Given the description of an element on the screen output the (x, y) to click on. 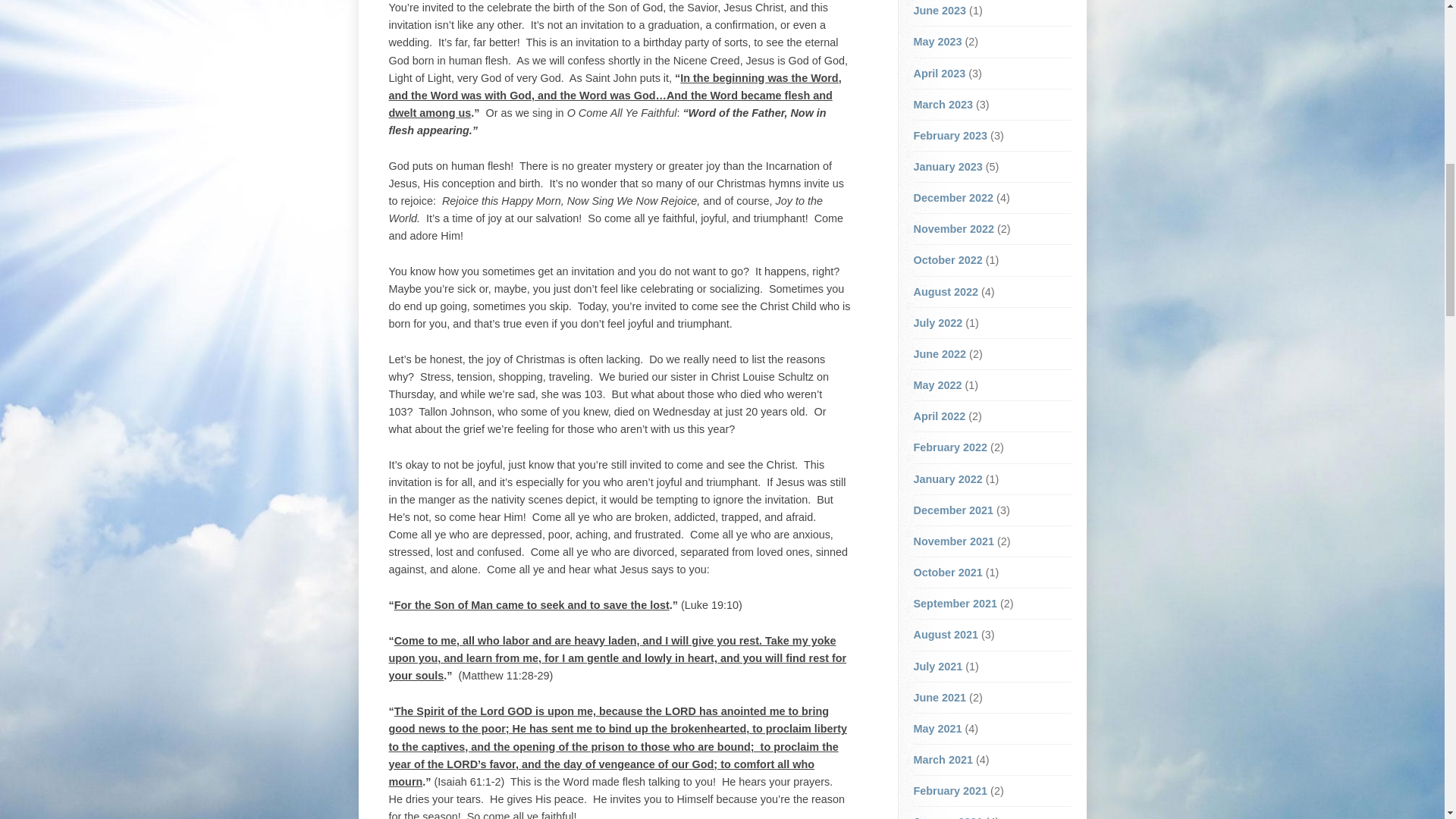
December 2022 (952, 197)
March 2023 (942, 104)
February 2023 (949, 135)
January 2023 (946, 166)
June 2023 (939, 10)
April 2023 (938, 73)
May 2023 (936, 41)
